Given the description of an element on the screen output the (x, y) to click on. 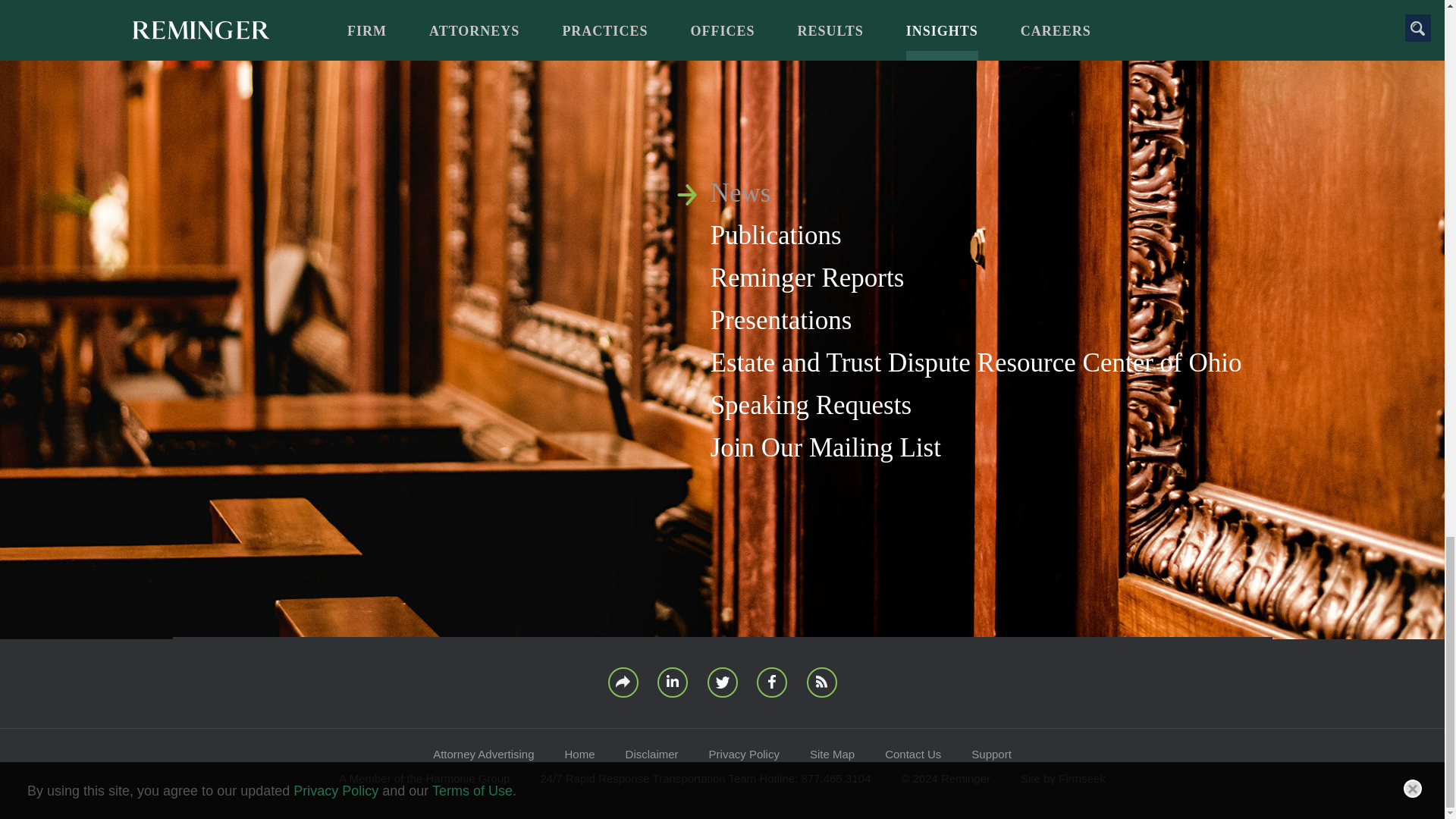
News (740, 193)
Facebook (772, 682)
Publications (775, 235)
Join Our Mailing List (825, 447)
LinkedIn (672, 682)
Presentations (780, 319)
Reminger Reports (807, 277)
Speaking Requests (810, 405)
Twitter (721, 682)
Share (623, 682)
Estate and Trust Dispute Resource Center of Ohio (975, 362)
